Given the description of an element on the screen output the (x, y) to click on. 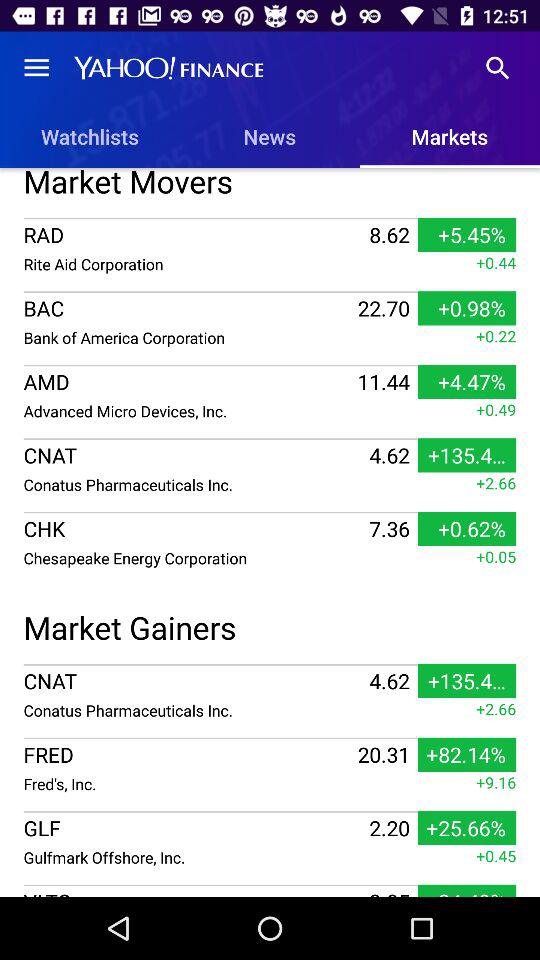
press the item next to 7.36 item (193, 557)
